Given the description of an element on the screen output the (x, y) to click on. 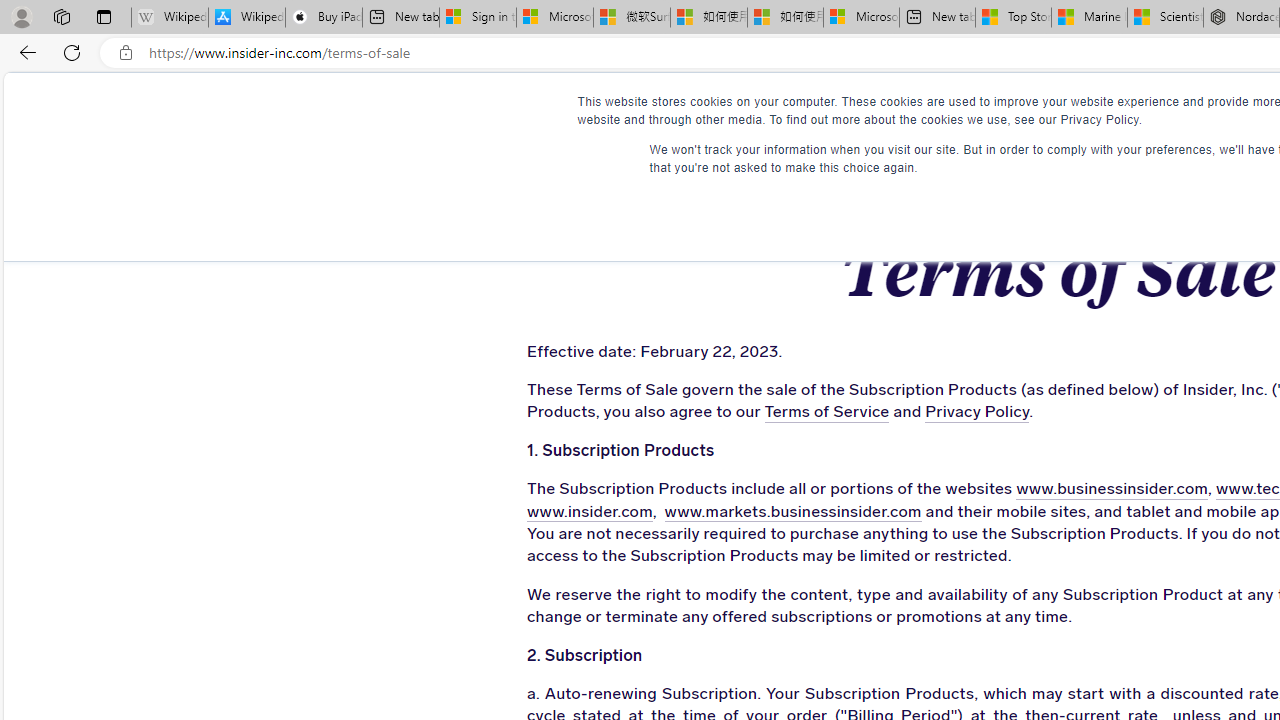
ADVERTISE WITH US (786, 110)
WHO WE ARE (610, 110)
www.markets.businessinsider.com (792, 511)
Insider Inc. (1056, 111)
WHAT WE DO (458, 110)
www.insider.com (589, 511)
Microsoft account | Account Checkup (861, 17)
Buy iPad - Apple (323, 17)
www.businessinsider.com (1112, 489)
